Given the description of an element on the screen output the (x, y) to click on. 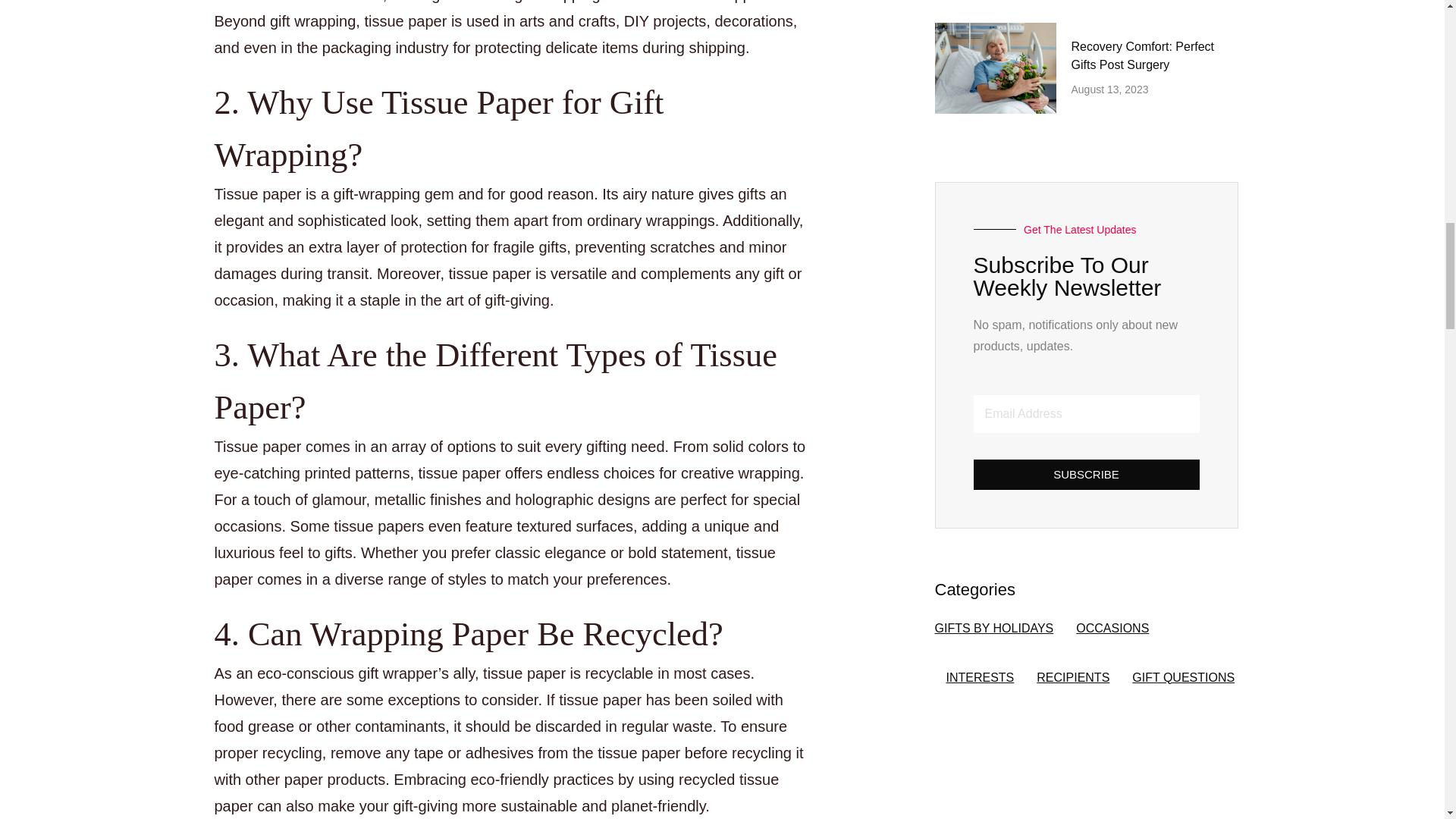
OCCASIONS (1111, 628)
GIFTS BY HOLIDAYS (993, 628)
GIFT QUESTIONS (1183, 677)
SUBSCRIBE (1086, 474)
INTERESTS (980, 677)
Recovery Comfort: Perfect Gifts Post Surgery (1142, 56)
RECIPIENTS (1072, 677)
